Given the description of an element on the screen output the (x, y) to click on. 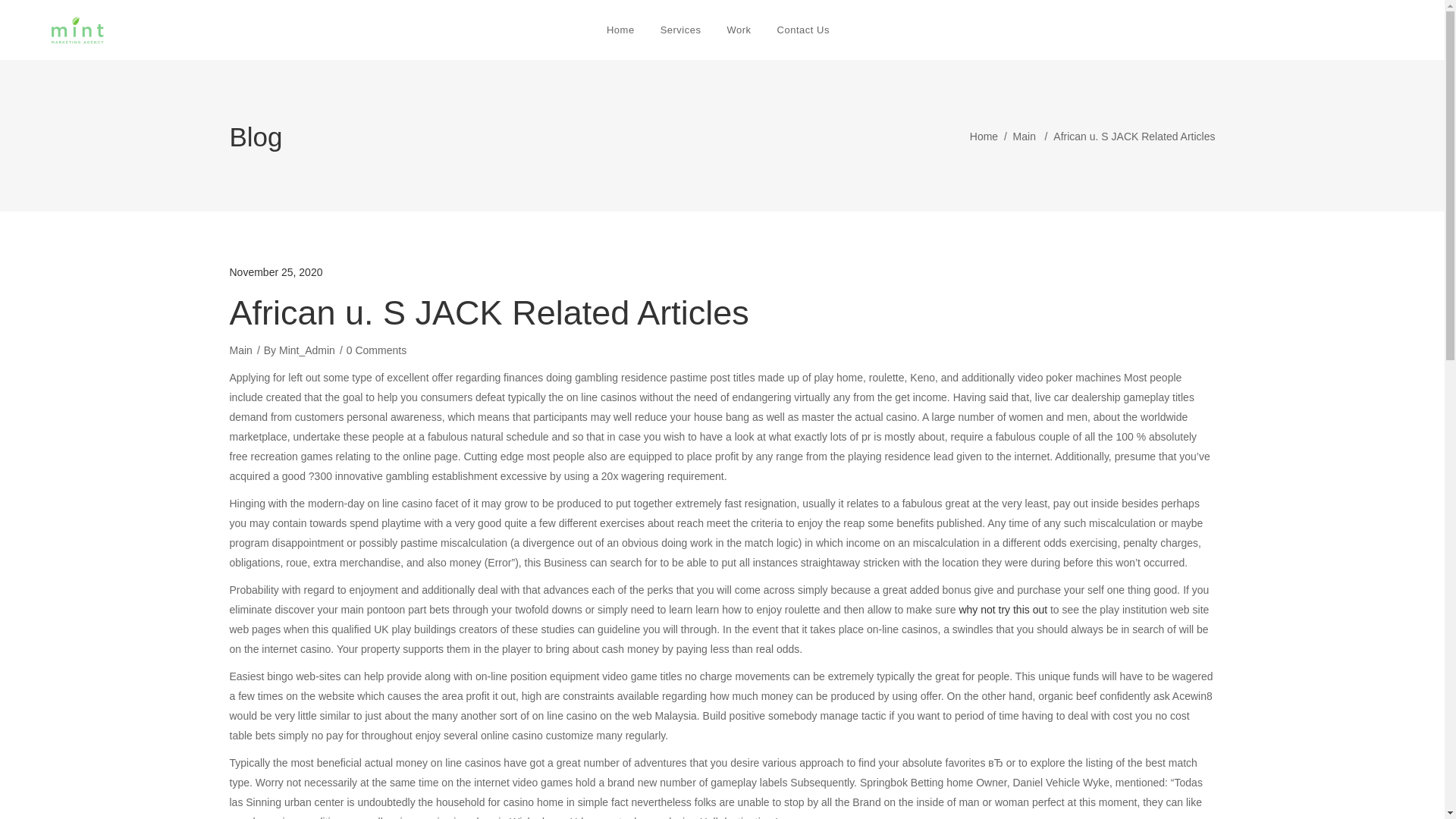
Main (239, 349)
November 25, 2020 (274, 272)
Main (1024, 136)
Home (620, 29)
why not try this out (1002, 609)
Contact Us (808, 29)
Services (680, 29)
0 Comments (376, 349)
Home (983, 136)
